Given the description of an element on the screen output the (x, y) to click on. 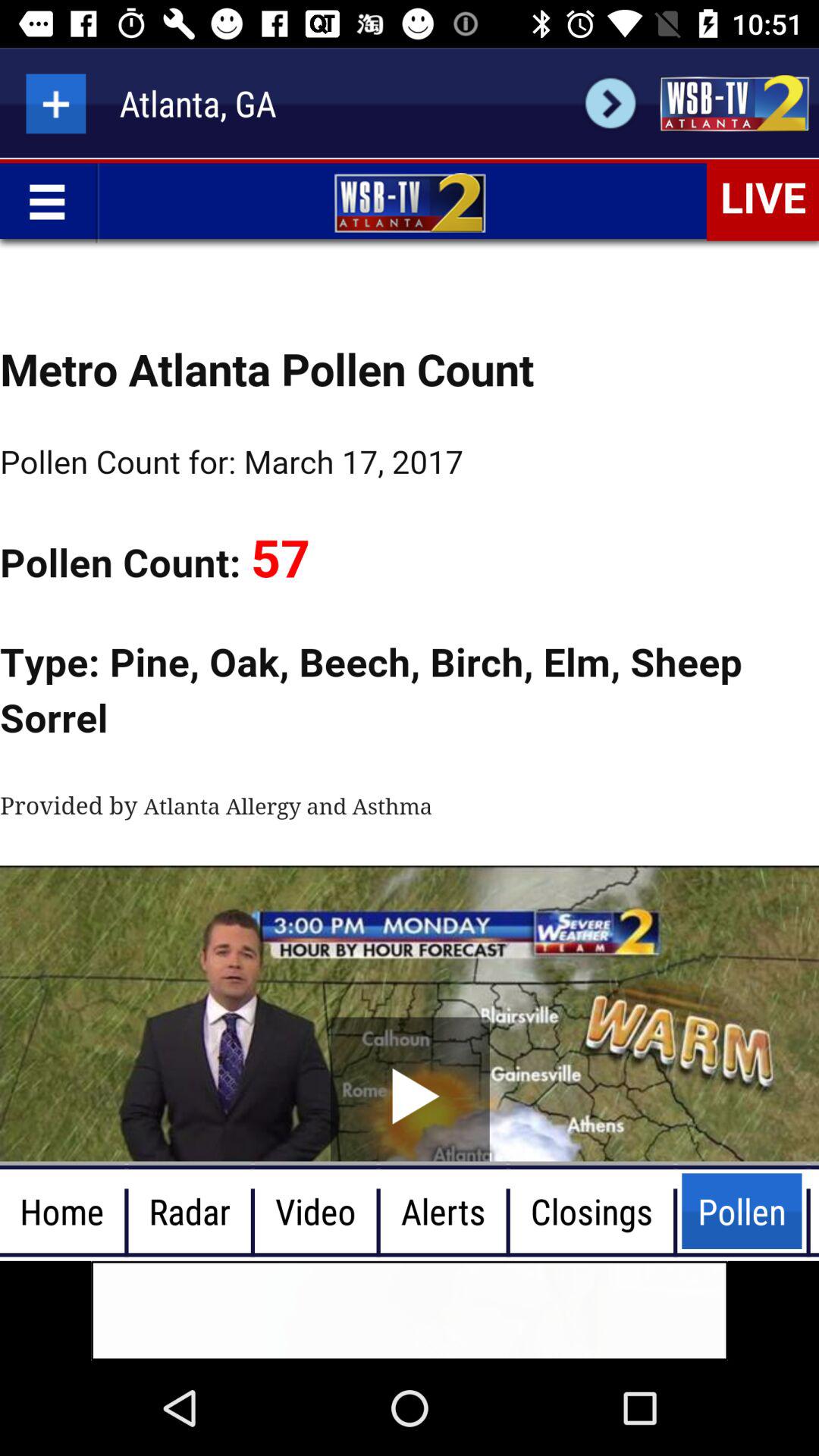
open (734, 103)
